Given the description of an element on the screen output the (x, y) to click on. 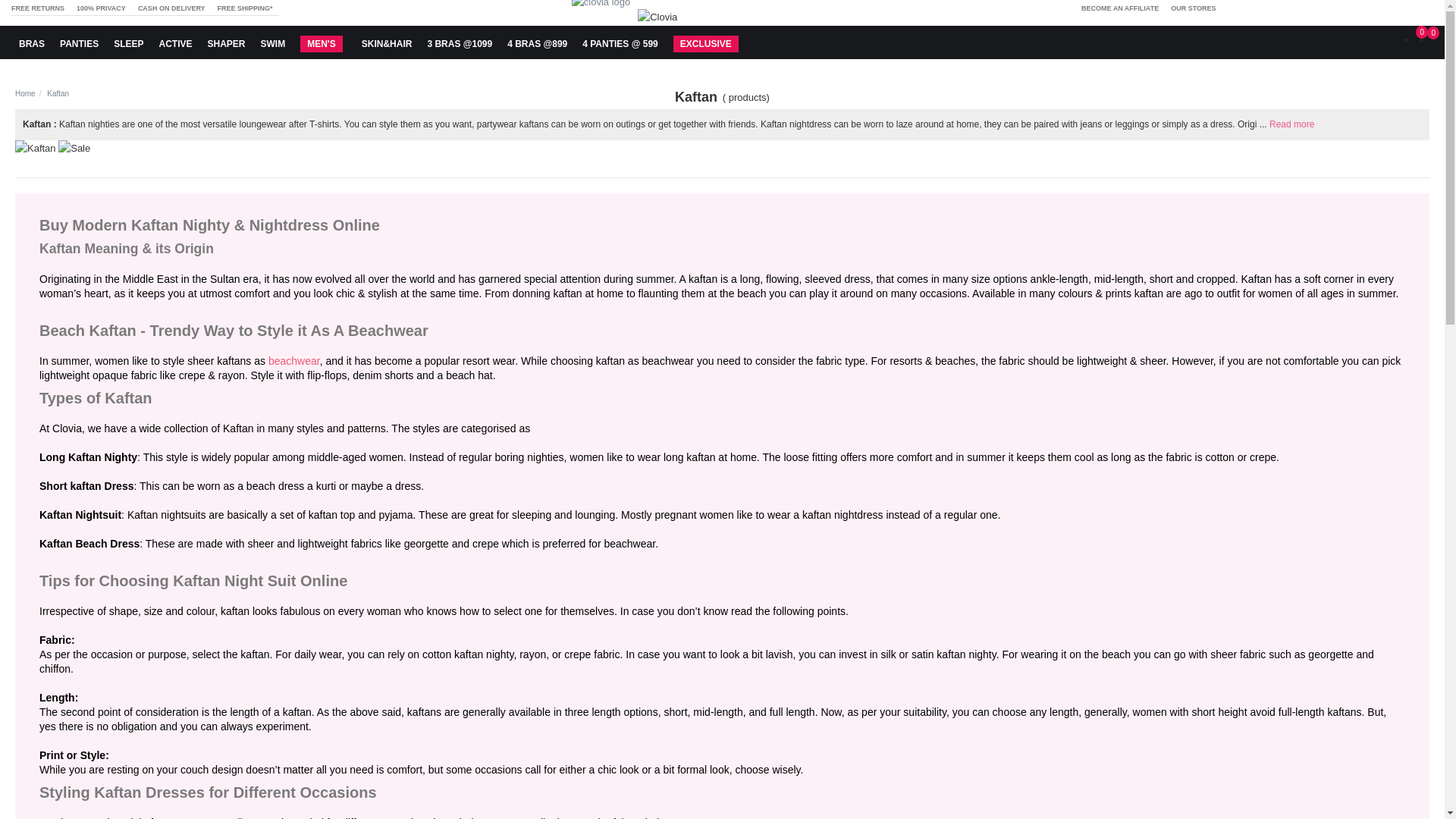
OUR STORES (1192, 8)
BRAS (74, 148)
BECOME AN AFFILIATE (31, 41)
